Given the description of an element on the screen output the (x, y) to click on. 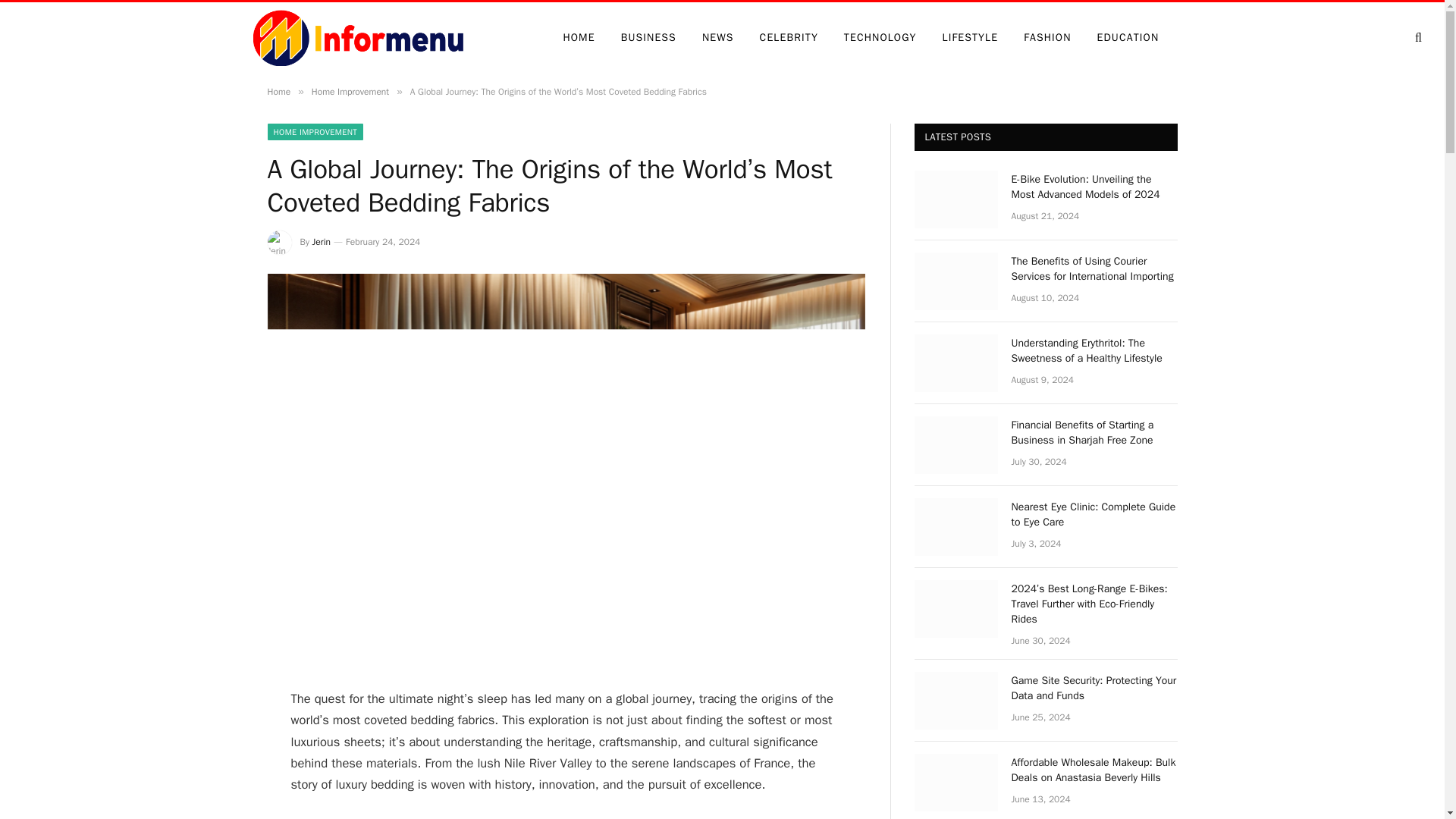
Home Improvement (349, 91)
Nearest Eye Clinic: Complete Guide to Eye Care (1094, 514)
Posts by Jerin (321, 241)
Home (277, 91)
EDUCATION (1128, 37)
E-Bike Evolution: Unveiling the Most Advanced Models of 2024 (1094, 186)
Jerin (321, 241)
